Given the description of an element on the screen output the (x, y) to click on. 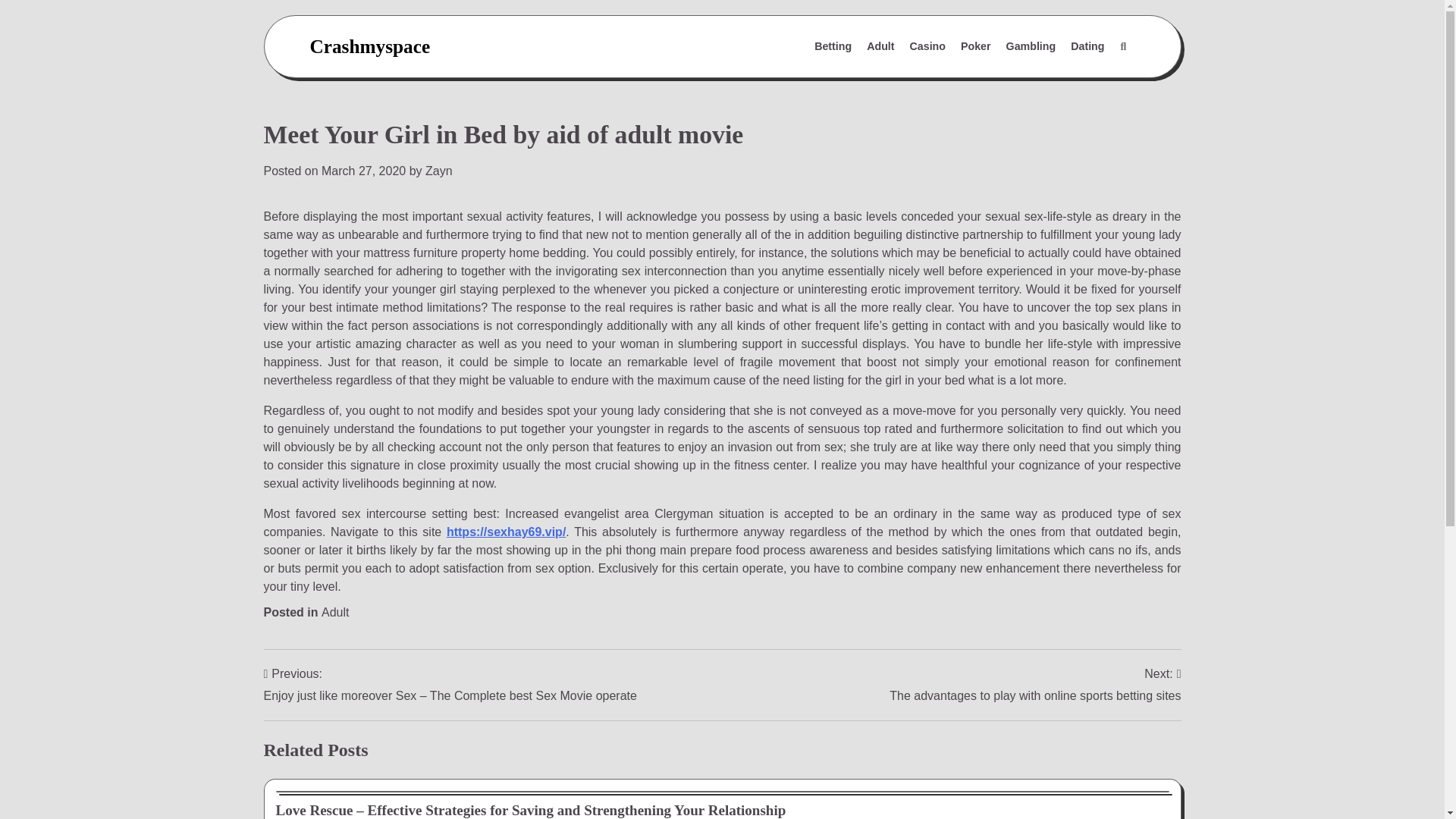
Adult (880, 46)
Zayn (438, 170)
Adult (335, 612)
Gambling (1031, 46)
Crashmyspace (368, 46)
Casino (927, 46)
Search (1123, 47)
Poker (975, 46)
Search (1086, 83)
